Given the description of an element on the screen output the (x, y) to click on. 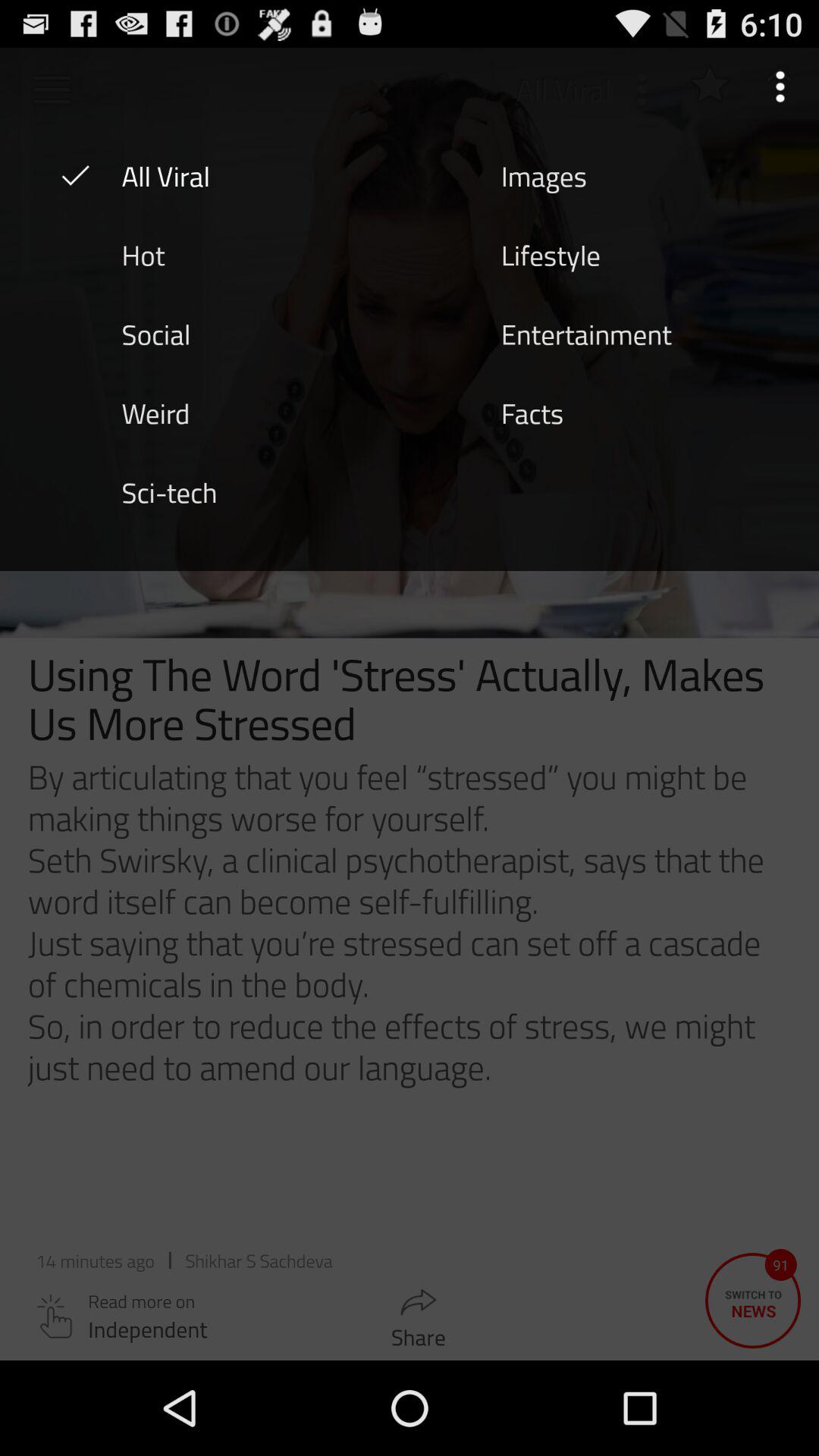
choose the icon below the weird item (169, 490)
